Given the description of an element on the screen output the (x, y) to click on. 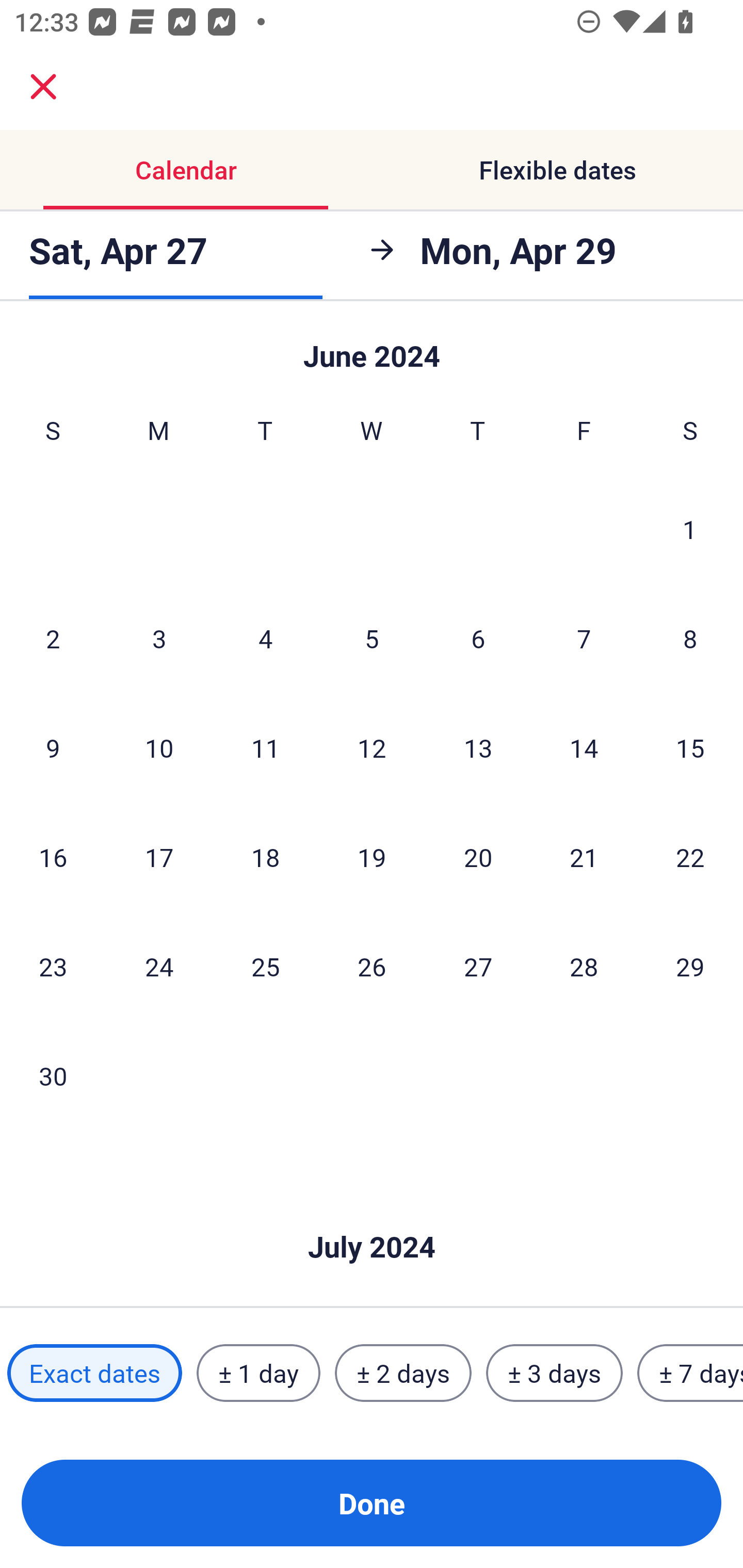
close. (43, 86)
Flexible dates (557, 170)
1 Saturday, June 1, 2024 (689, 528)
2 Sunday, June 2, 2024 (53, 637)
3 Monday, June 3, 2024 (159, 637)
4 Tuesday, June 4, 2024 (265, 637)
5 Wednesday, June 5, 2024 (371, 637)
6 Thursday, June 6, 2024 (477, 637)
7 Friday, June 7, 2024 (584, 637)
8 Saturday, June 8, 2024 (690, 637)
9 Sunday, June 9, 2024 (53, 747)
10 Monday, June 10, 2024 (159, 747)
11 Tuesday, June 11, 2024 (265, 747)
12 Wednesday, June 12, 2024 (371, 747)
13 Thursday, June 13, 2024 (477, 747)
14 Friday, June 14, 2024 (584, 747)
15 Saturday, June 15, 2024 (690, 747)
16 Sunday, June 16, 2024 (53, 856)
17 Monday, June 17, 2024 (159, 856)
18 Tuesday, June 18, 2024 (265, 856)
19 Wednesday, June 19, 2024 (371, 856)
20 Thursday, June 20, 2024 (477, 856)
21 Friday, June 21, 2024 (584, 856)
22 Saturday, June 22, 2024 (690, 856)
23 Sunday, June 23, 2024 (53, 966)
24 Monday, June 24, 2024 (159, 966)
25 Tuesday, June 25, 2024 (265, 966)
26 Wednesday, June 26, 2024 (371, 966)
27 Thursday, June 27, 2024 (477, 966)
28 Friday, June 28, 2024 (584, 966)
29 Saturday, June 29, 2024 (690, 966)
30 Sunday, June 30, 2024 (53, 1075)
Skip to Done (371, 1215)
Exact dates (94, 1372)
± 1 day (258, 1372)
± 2 days (403, 1372)
± 3 days (553, 1372)
± 7 days (690, 1372)
Done (371, 1502)
